Given the description of an element on the screen output the (x, y) to click on. 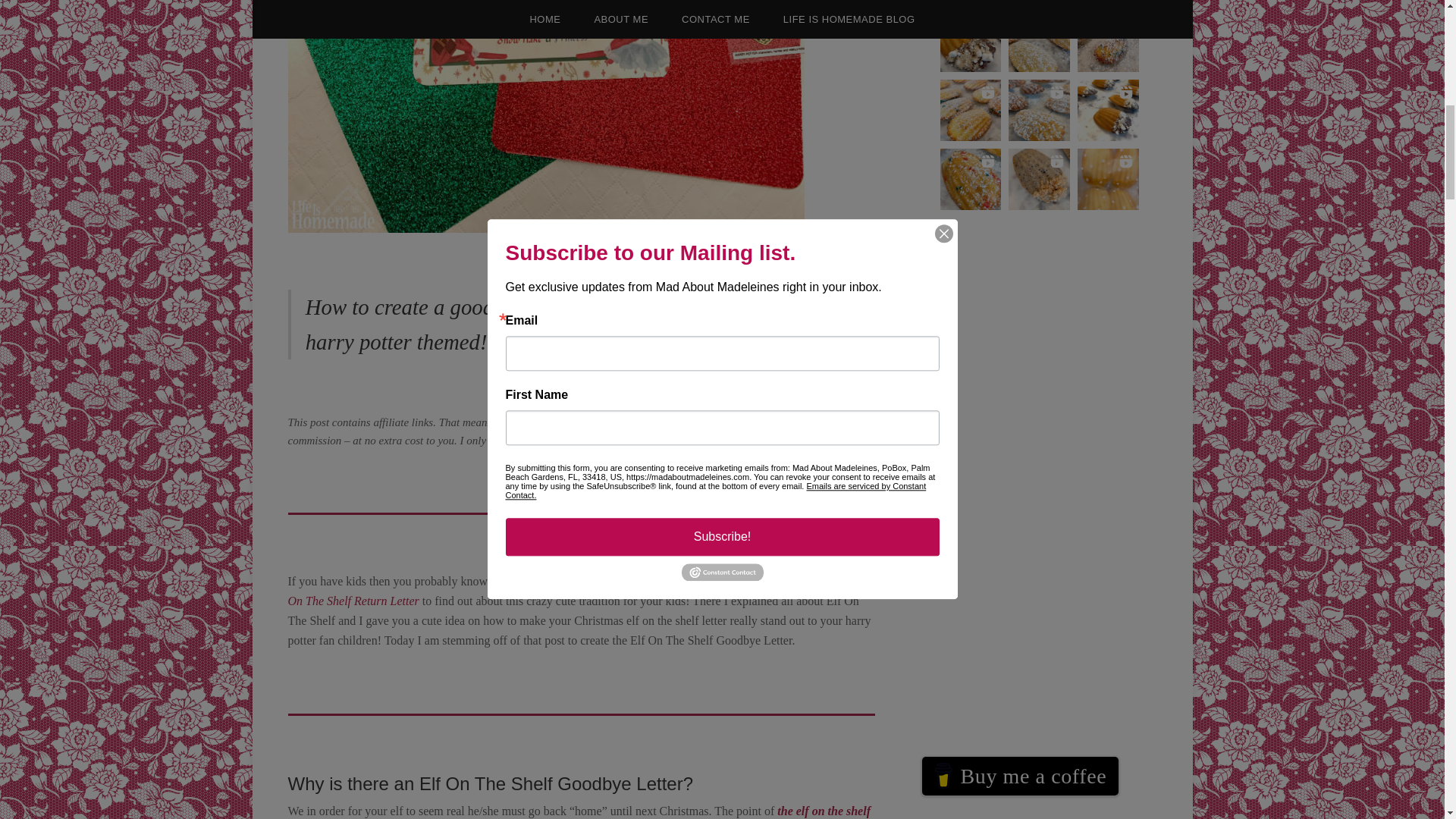
the elf on the shelf (823, 810)
Elf On The Shelf Return Letter (581, 590)
